Given the description of an element on the screen output the (x, y) to click on. 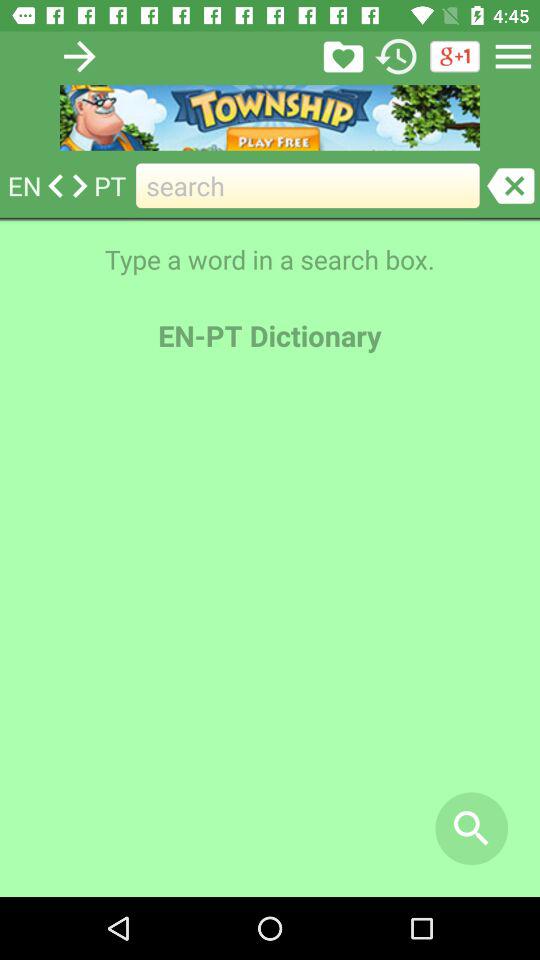
clears the text box for the search field (510, 185)
